Given the description of an element on the screen output the (x, y) to click on. 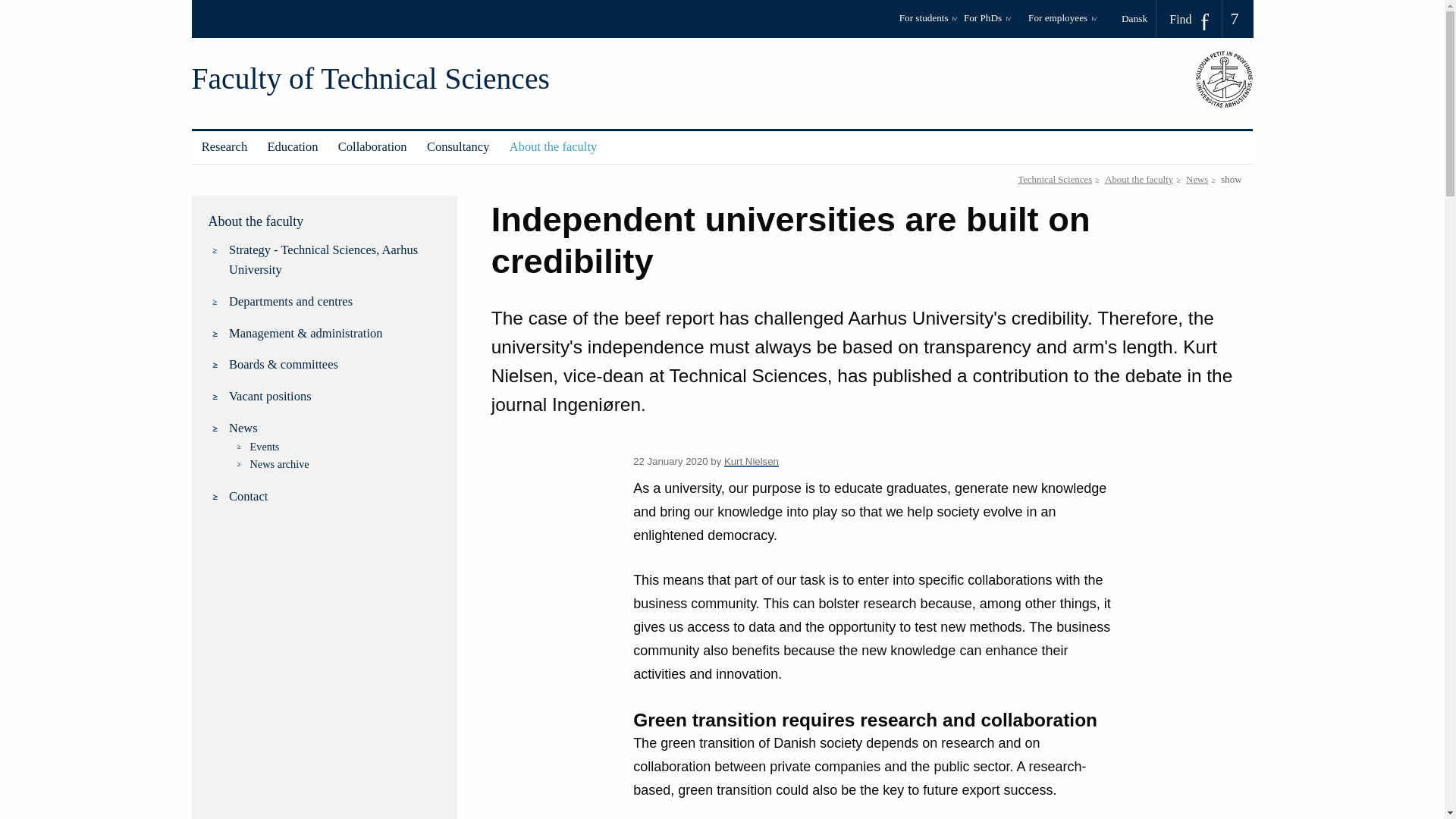
Dansk (1139, 18)
For PhDs (992, 22)
Faculty of Technical Sciences (369, 78)
For students (927, 22)
Research (223, 147)
Search (17, 5)
Consultancy (457, 147)
For employees (1061, 22)
Education (292, 147)
Find (1189, 19)
